Given the description of an element on the screen output the (x, y) to click on. 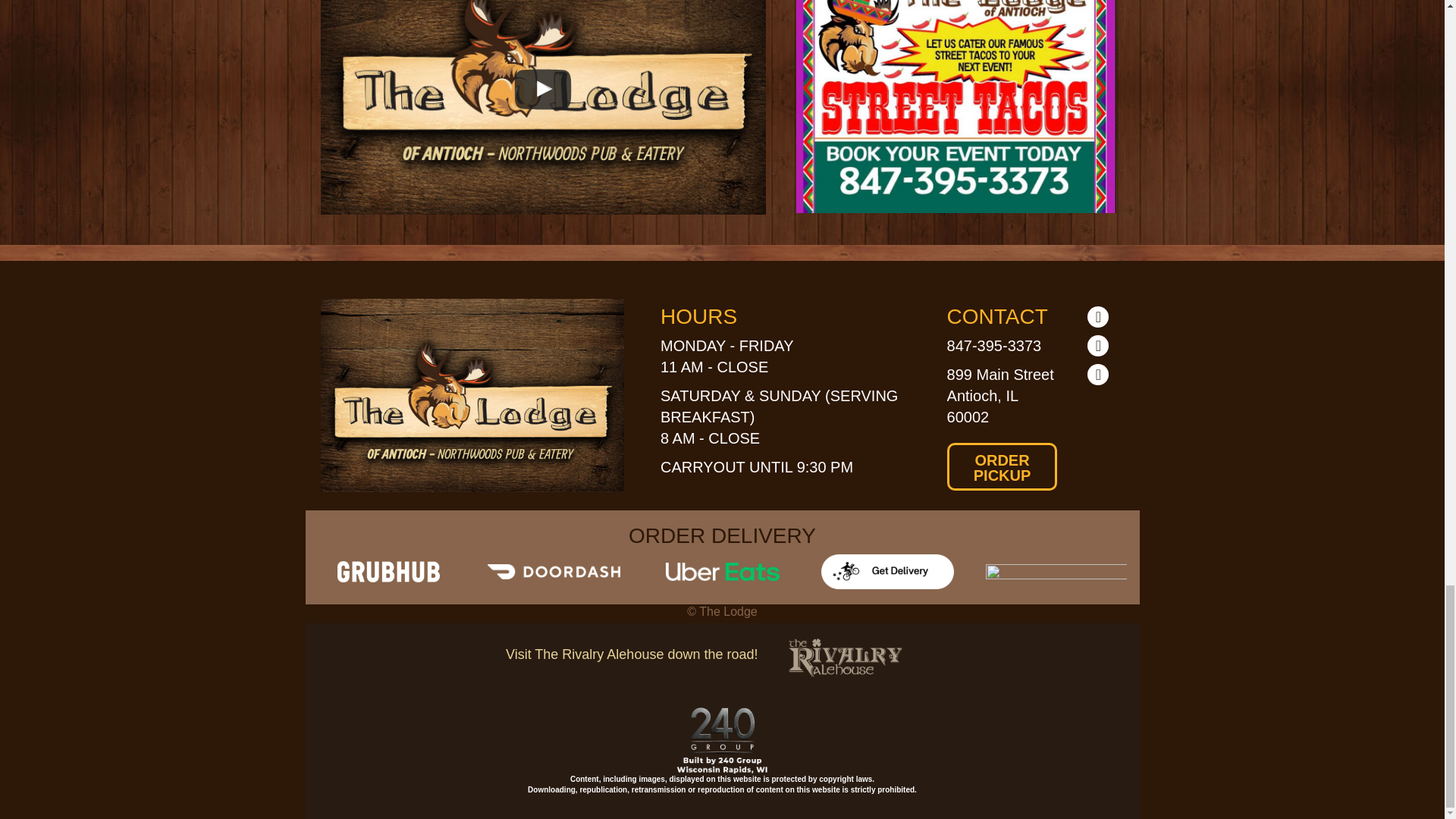
the-lodge-logo-header (471, 395)
Street-Taco-Catering (956, 106)
ORDER PICKUP (1002, 466)
grubhub-white (388, 571)
CONTACT (997, 316)
rivalry-header-logo (845, 658)
HOURS (698, 316)
847-395-3373 (994, 345)
uber-eats-logo-white (721, 571)
240-Footer-Logo-WW (722, 740)
doordash-white (553, 571)
